Given the description of an element on the screen output the (x, y) to click on. 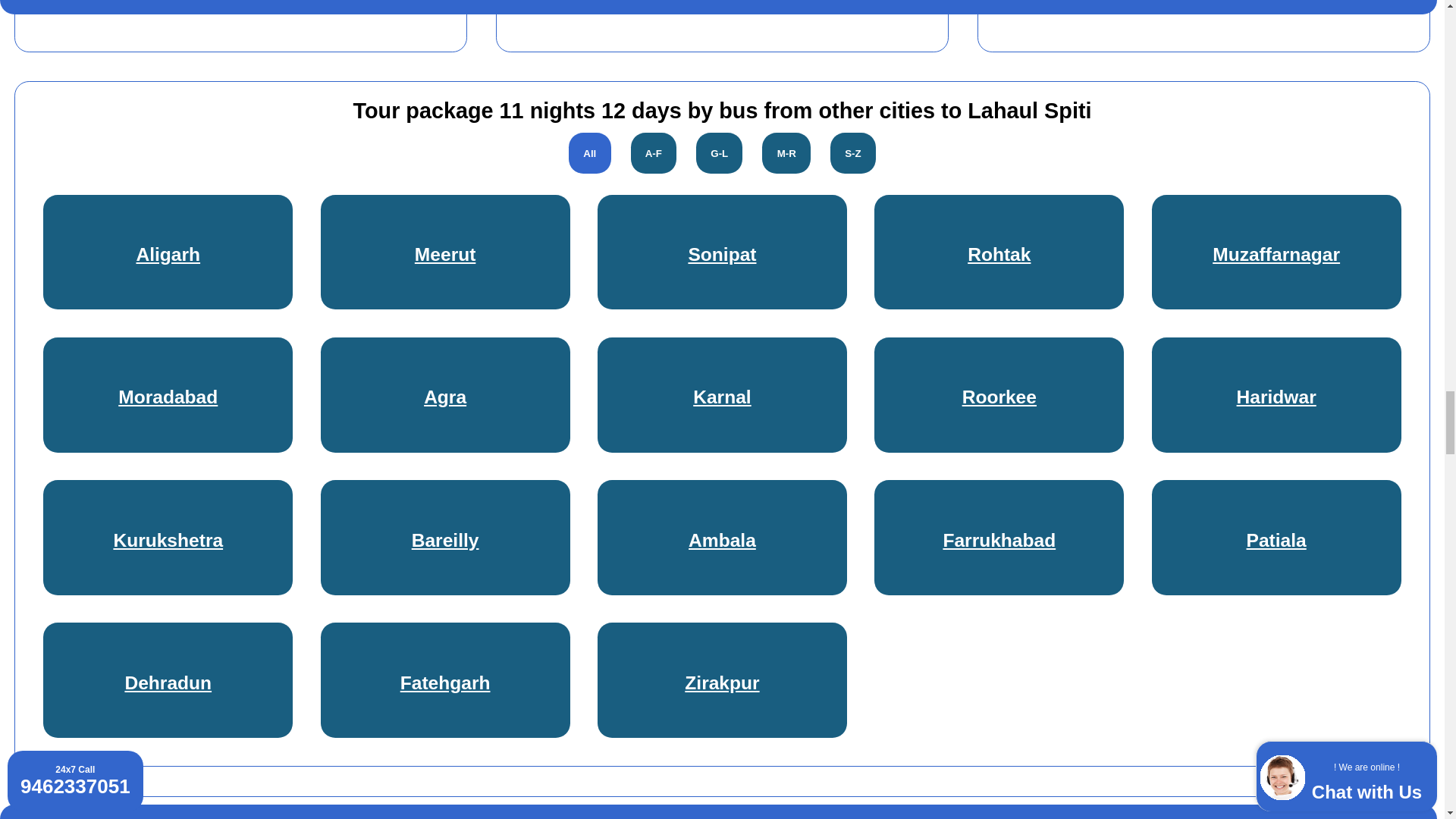
Packages in December from Faridabad to Lahaul Spiti (231, 5)
